Given the description of an element on the screen output the (x, y) to click on. 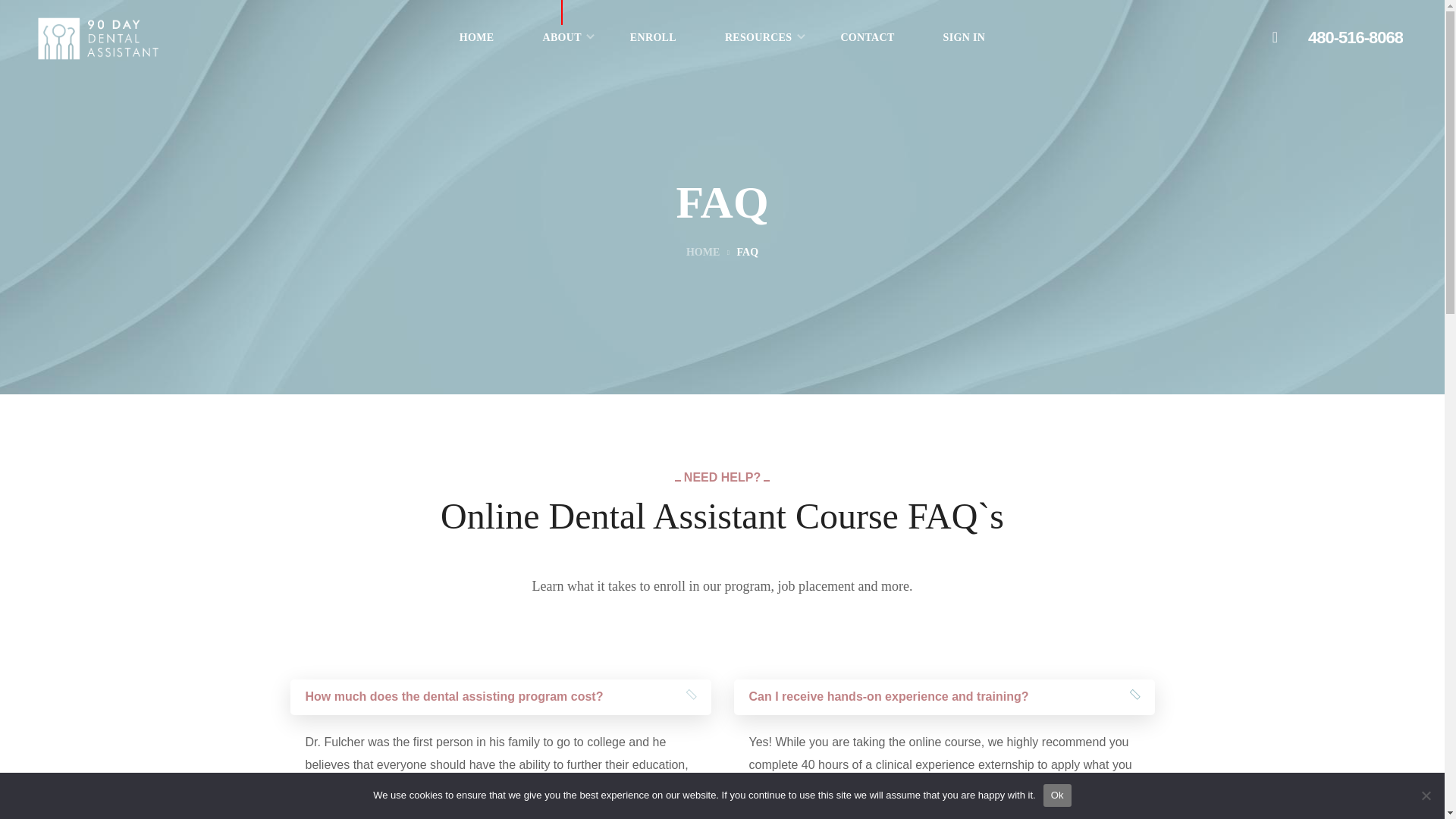
SIGN IN (964, 38)
No (1425, 795)
RESOURCES (757, 38)
ABOUT (561, 38)
ENROLL (652, 38)
HOME (476, 38)
Search (1064, 441)
CONTACT (866, 38)
480-516-8068 (1355, 37)
